Given the description of an element on the screen output the (x, y) to click on. 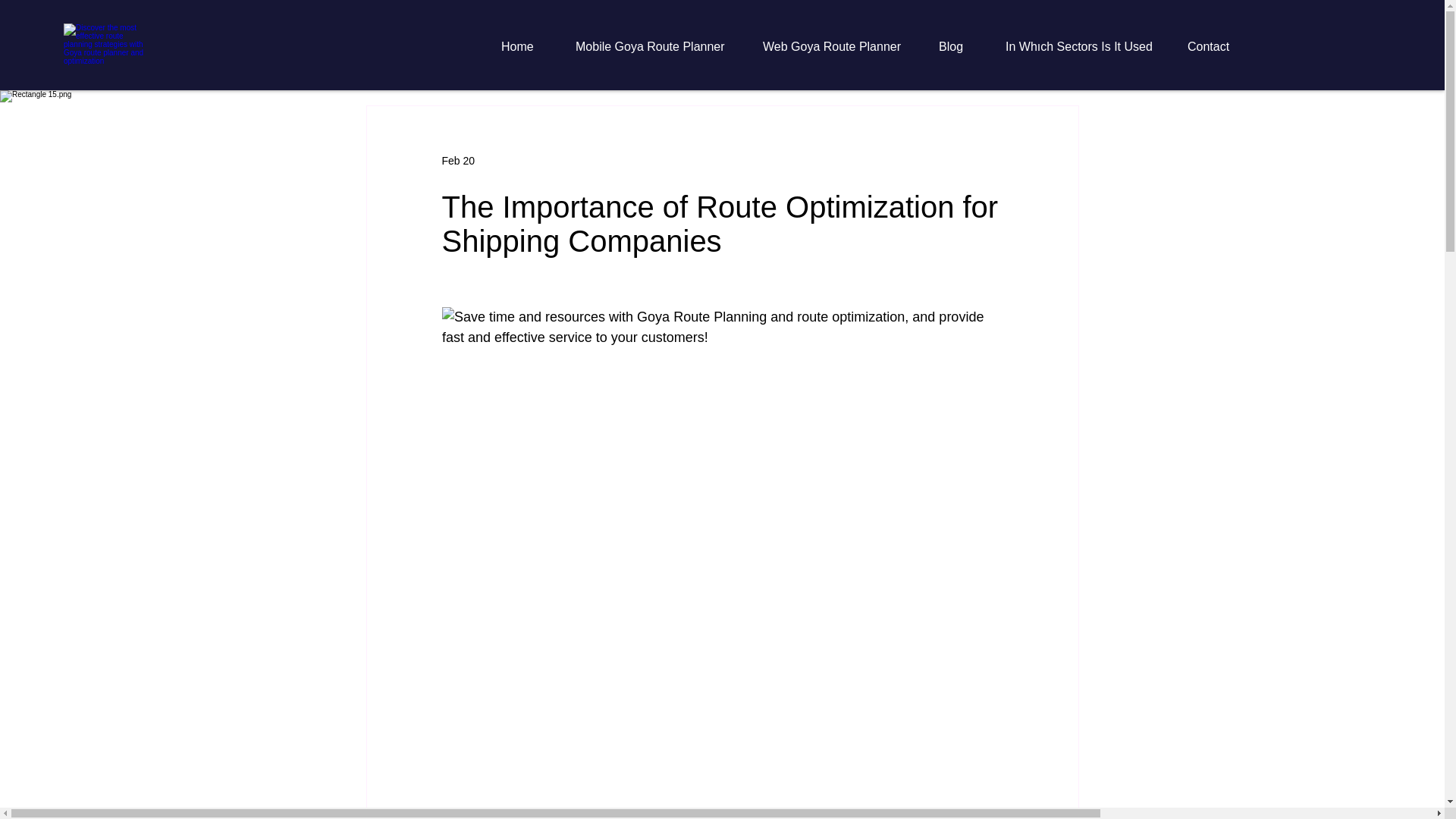
Blog (960, 46)
Feb 20 (457, 160)
Home (526, 46)
Mobile Goya Route Planner (657, 46)
Web Goya Route Planner (839, 46)
Route Planner and Route Optimization (104, 46)
Contact (1217, 46)
